Given the description of an element on the screen output the (x, y) to click on. 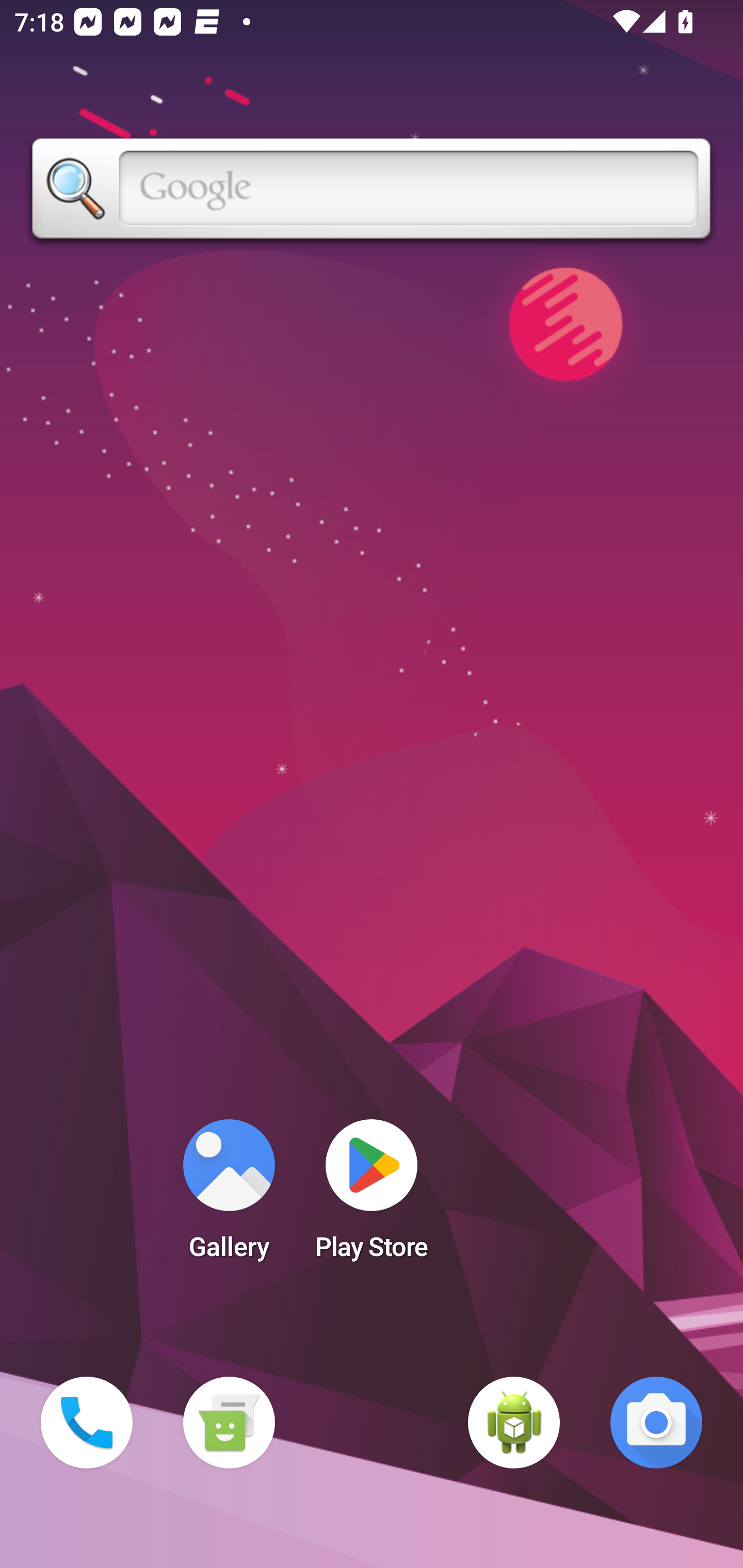
Gallery (228, 1195)
Play Store (371, 1195)
Phone (86, 1422)
Messaging (228, 1422)
WebView Browser Tester (513, 1422)
Camera (656, 1422)
